Given the description of an element on the screen output the (x, y) to click on. 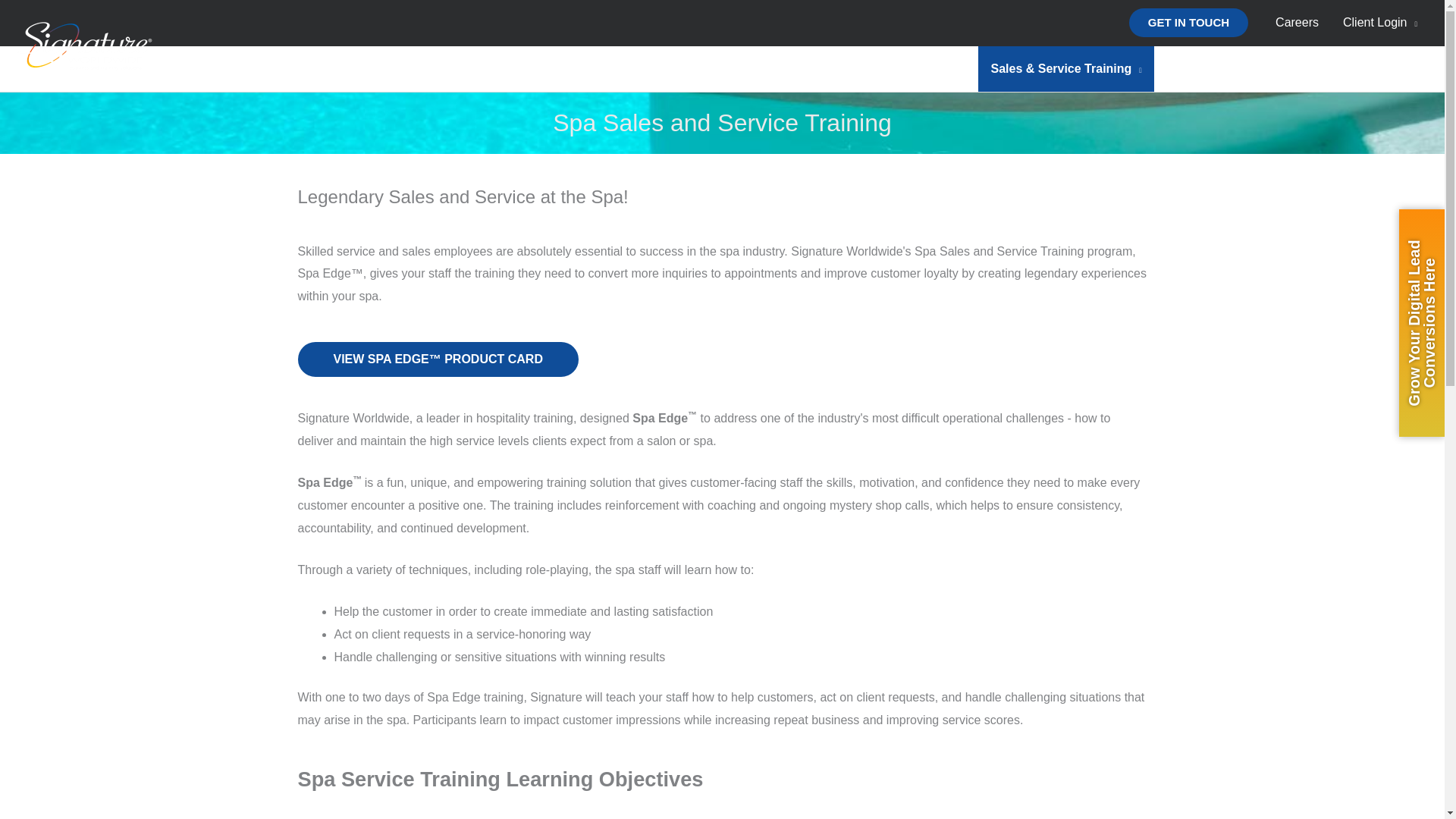
GET IN TOUCH (1188, 22)
Solutions by Industry (898, 68)
Client Login (1379, 22)
Careers (1296, 22)
